Given the description of an element on the screen output the (x, y) to click on. 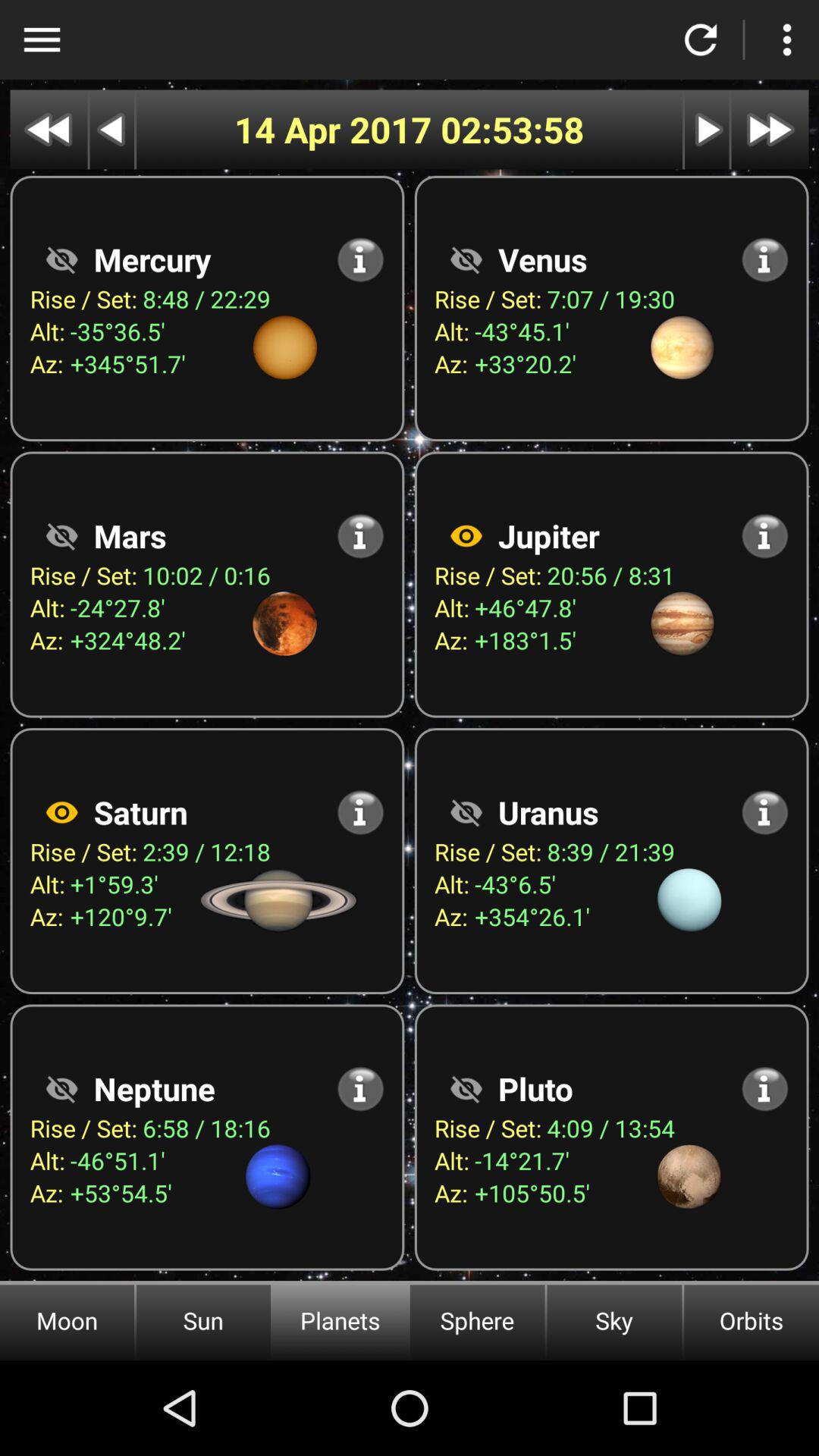
activate neptune information icon (360, 1088)
